Given the description of an element on the screen output the (x, y) to click on. 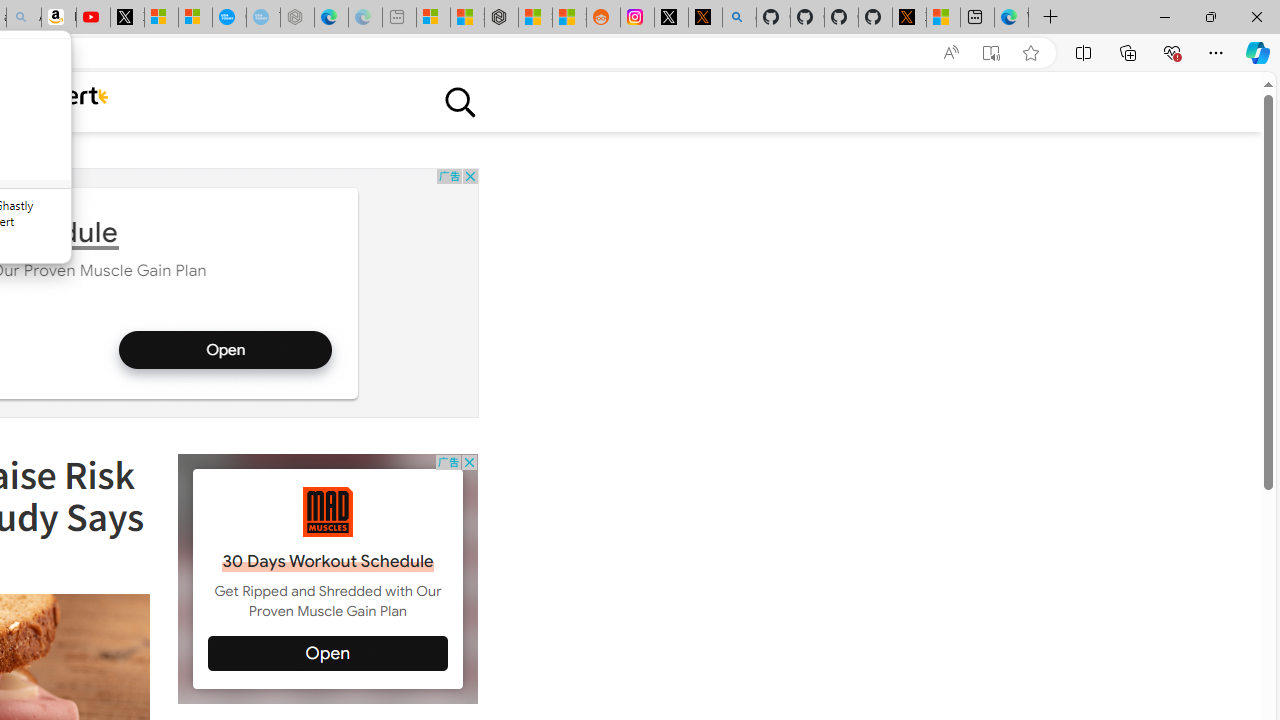
Class: sciencealert-search-desktop-svg  (459, 102)
X (127, 17)
Opinion: Op-Ed and Commentary - USA TODAY (228, 17)
Shanghai, China Weather trends | Microsoft Weather (569, 17)
github - Search (739, 17)
Log in to X / X (671, 17)
